Given the description of an element on the screen output the (x, y) to click on. 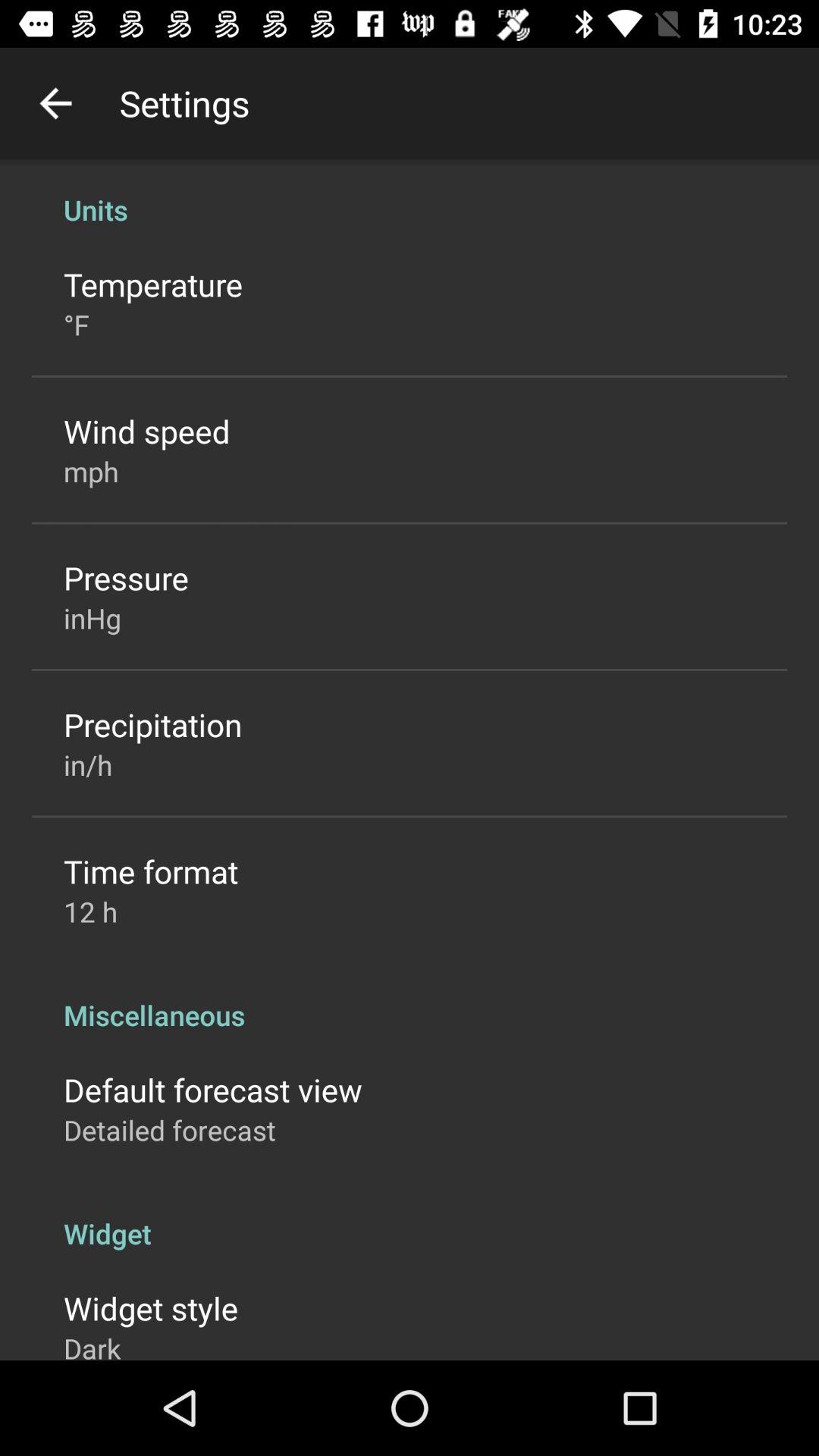
press the app to the left of settings item (55, 103)
